Given the description of an element on the screen output the (x, y) to click on. 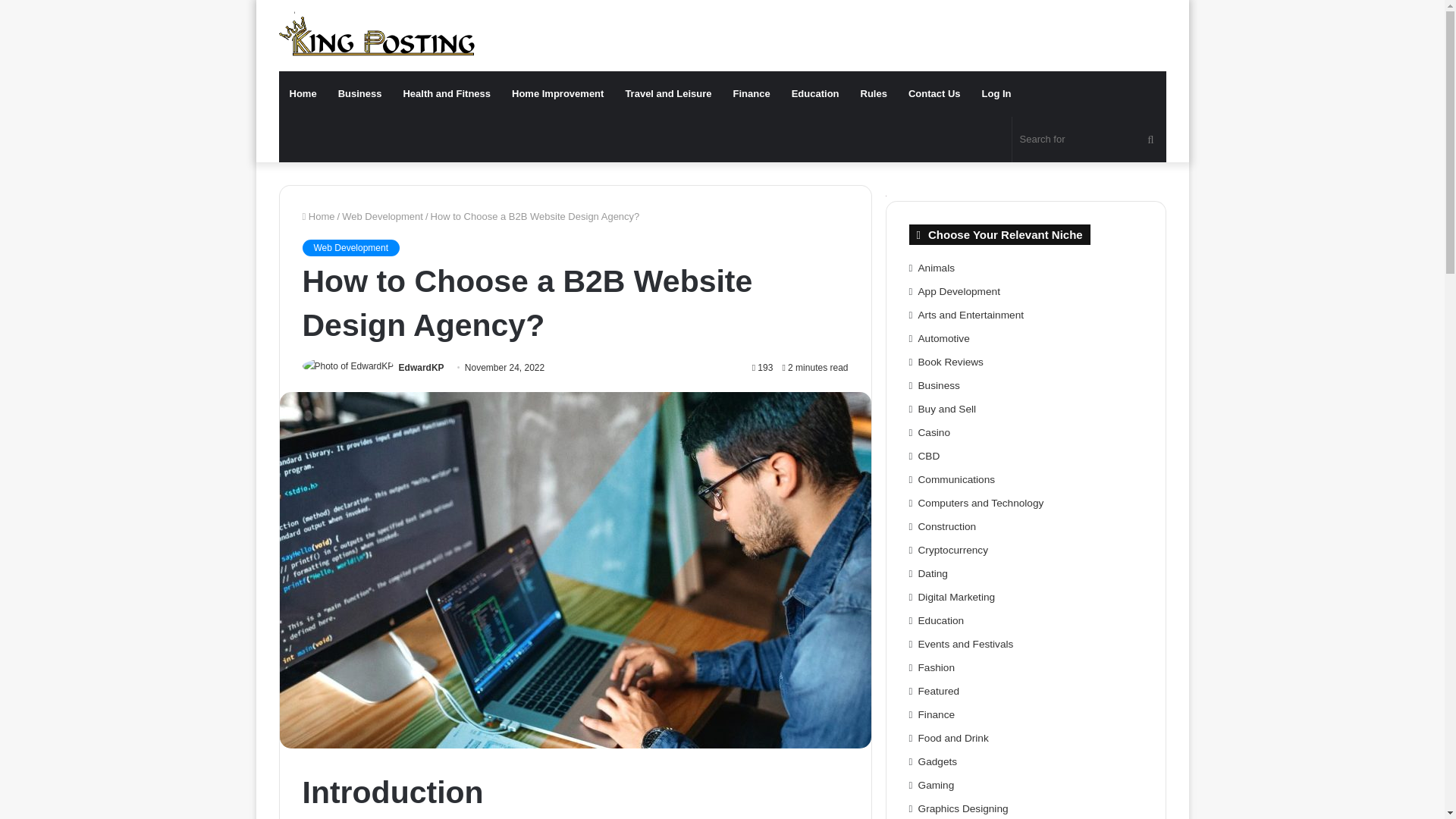
Home (303, 94)
Finance (751, 94)
Search for (1088, 139)
Home (317, 215)
Education (815, 94)
EdwardKP (421, 367)
King Posting (376, 33)
Home Improvement (557, 94)
Web Development (382, 215)
Web Development (349, 247)
Contact Us (934, 94)
Travel and Leisure (668, 94)
Log In (996, 94)
Business (360, 94)
Rules (874, 94)
